Given the description of an element on the screen output the (x, y) to click on. 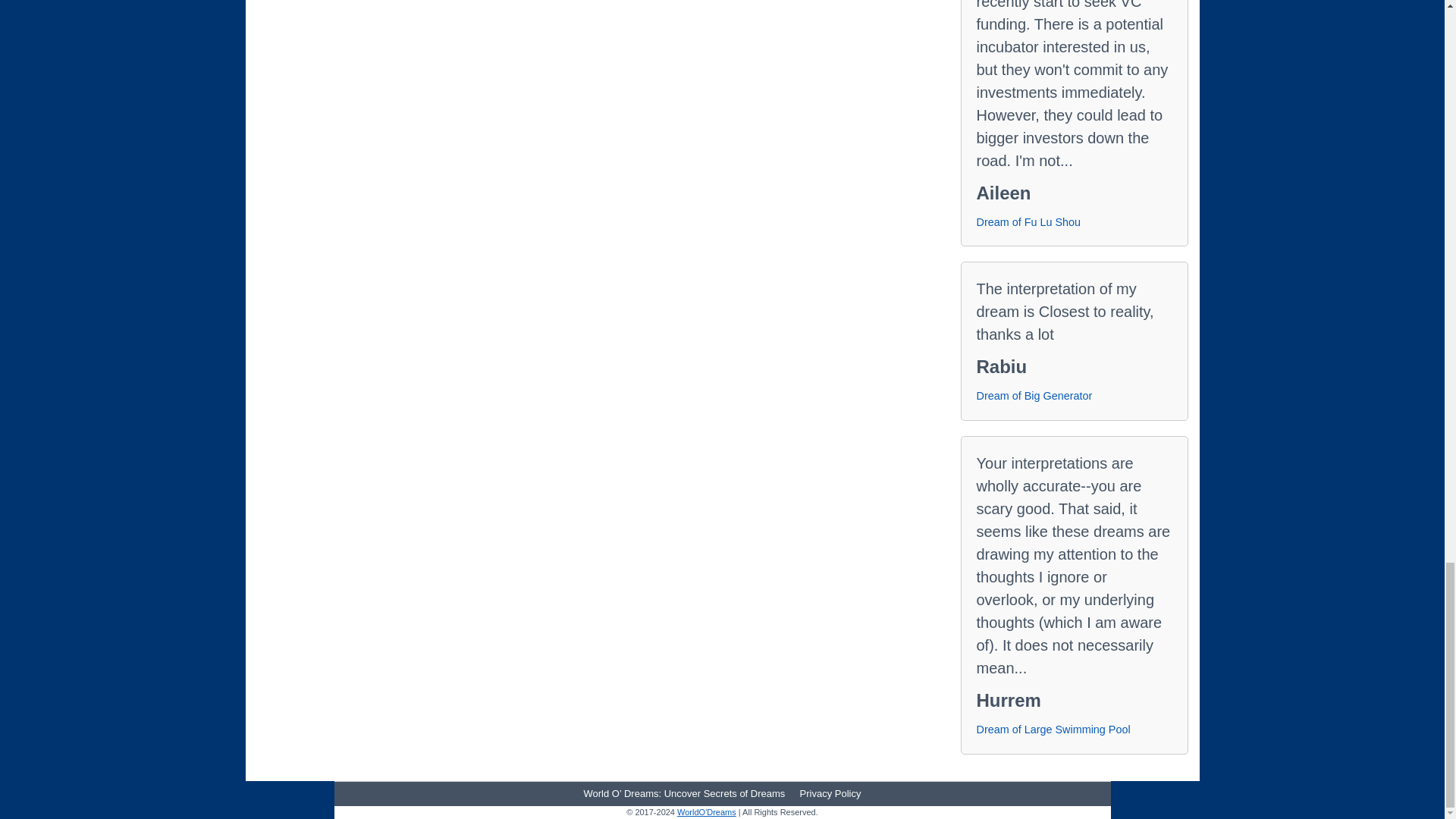
Dream of Fu Lu Shou (1028, 222)
Dream of Large Swimming Pool (1053, 729)
Dream of Big Generator (1034, 396)
